Given the description of an element on the screen output the (x, y) to click on. 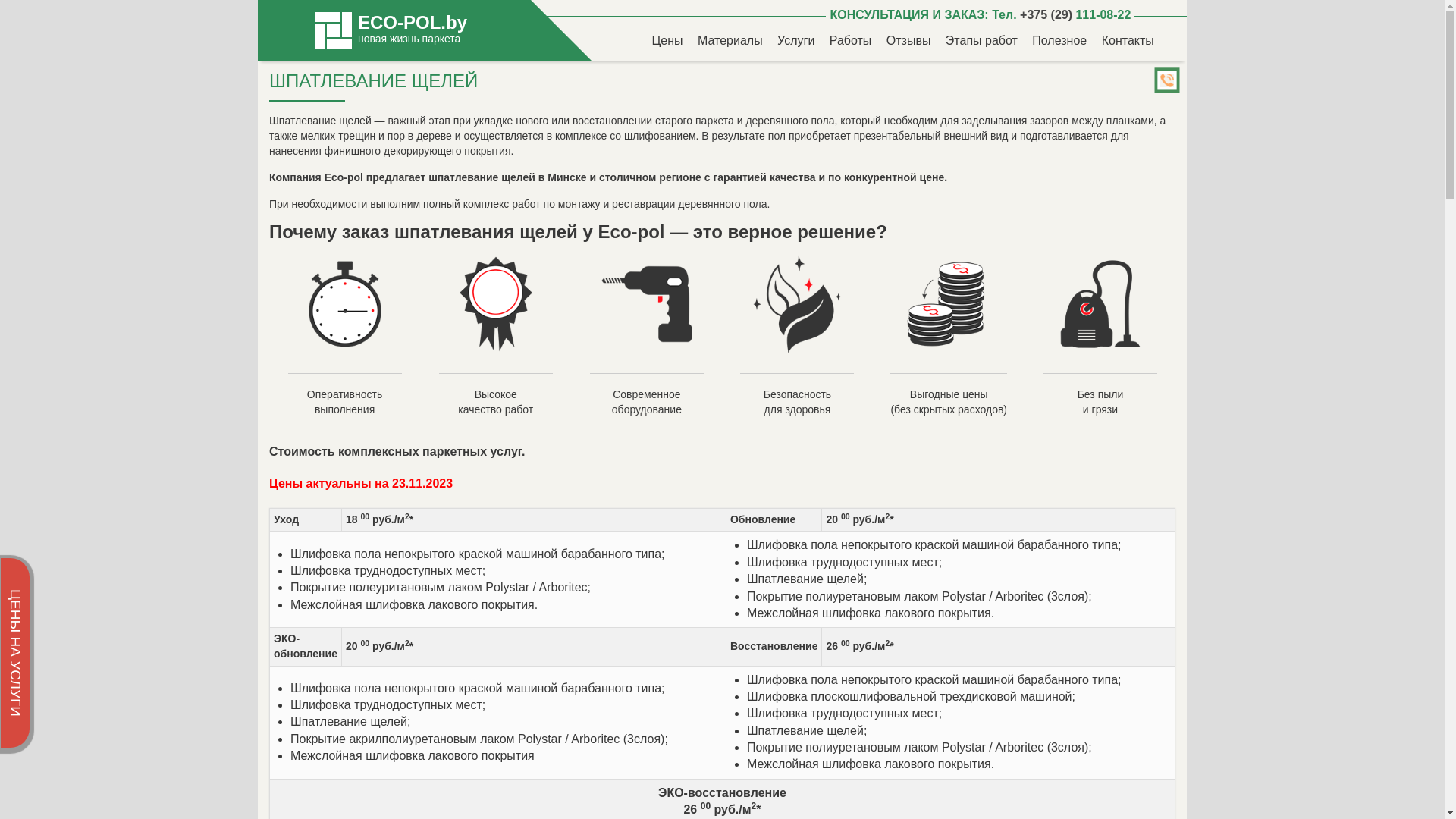
click Element type: text (1168, 81)
